Given the description of an element on the screen output the (x, y) to click on. 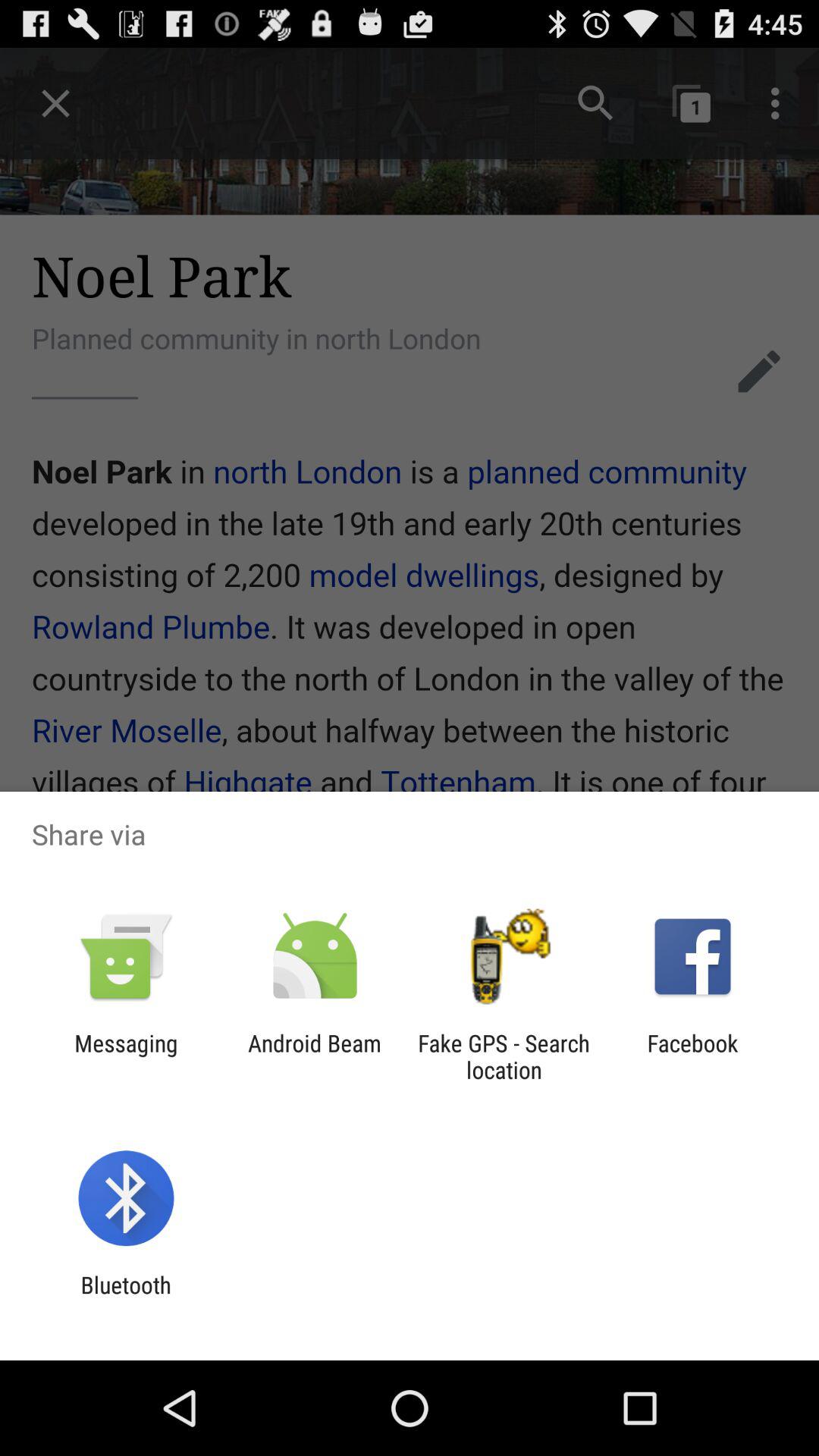
turn on item next to android beam app (503, 1056)
